Given the description of an element on the screen output the (x, y) to click on. 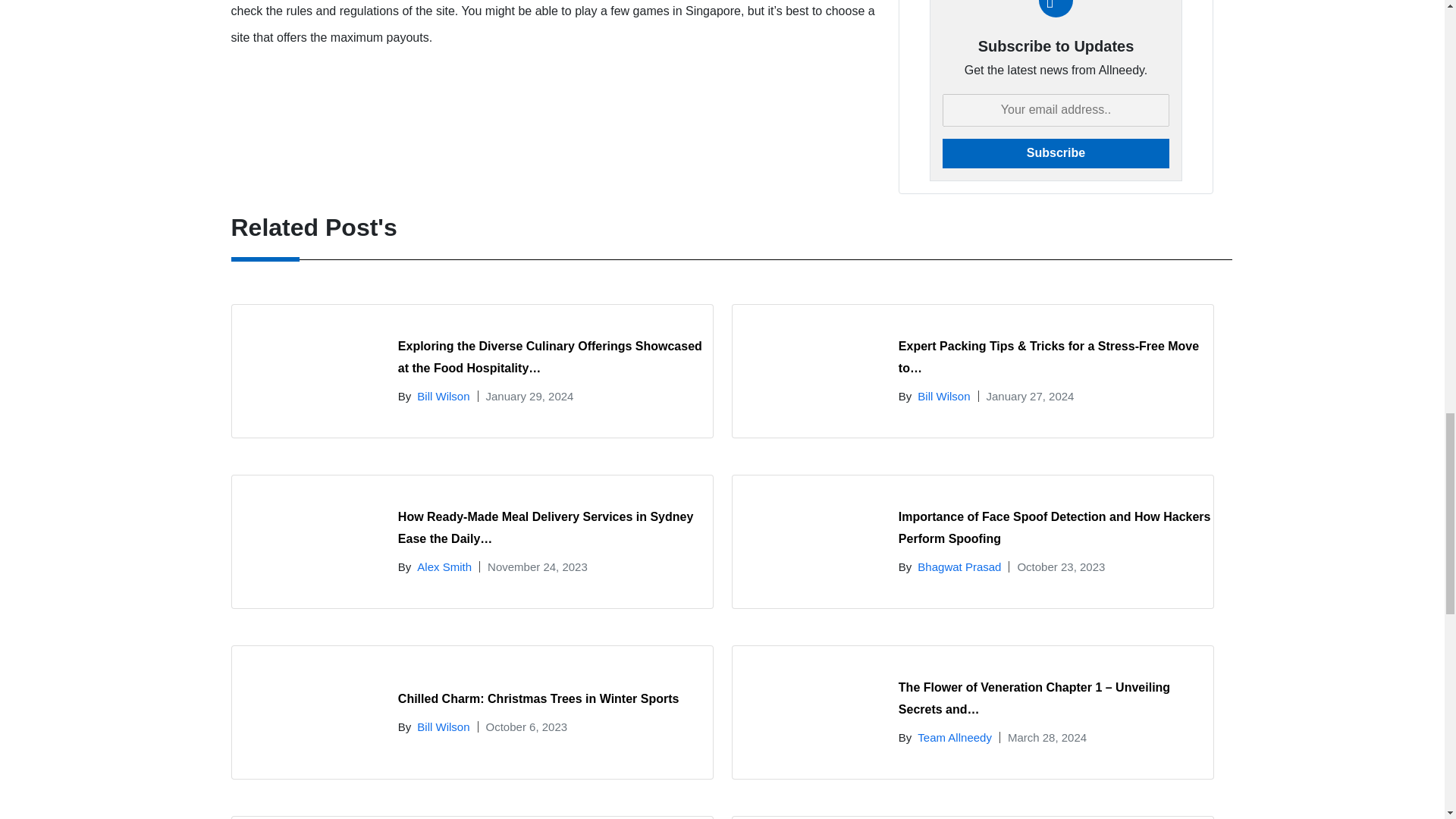
Subscribe (1055, 153)
